Given the description of an element on the screen output the (x, y) to click on. 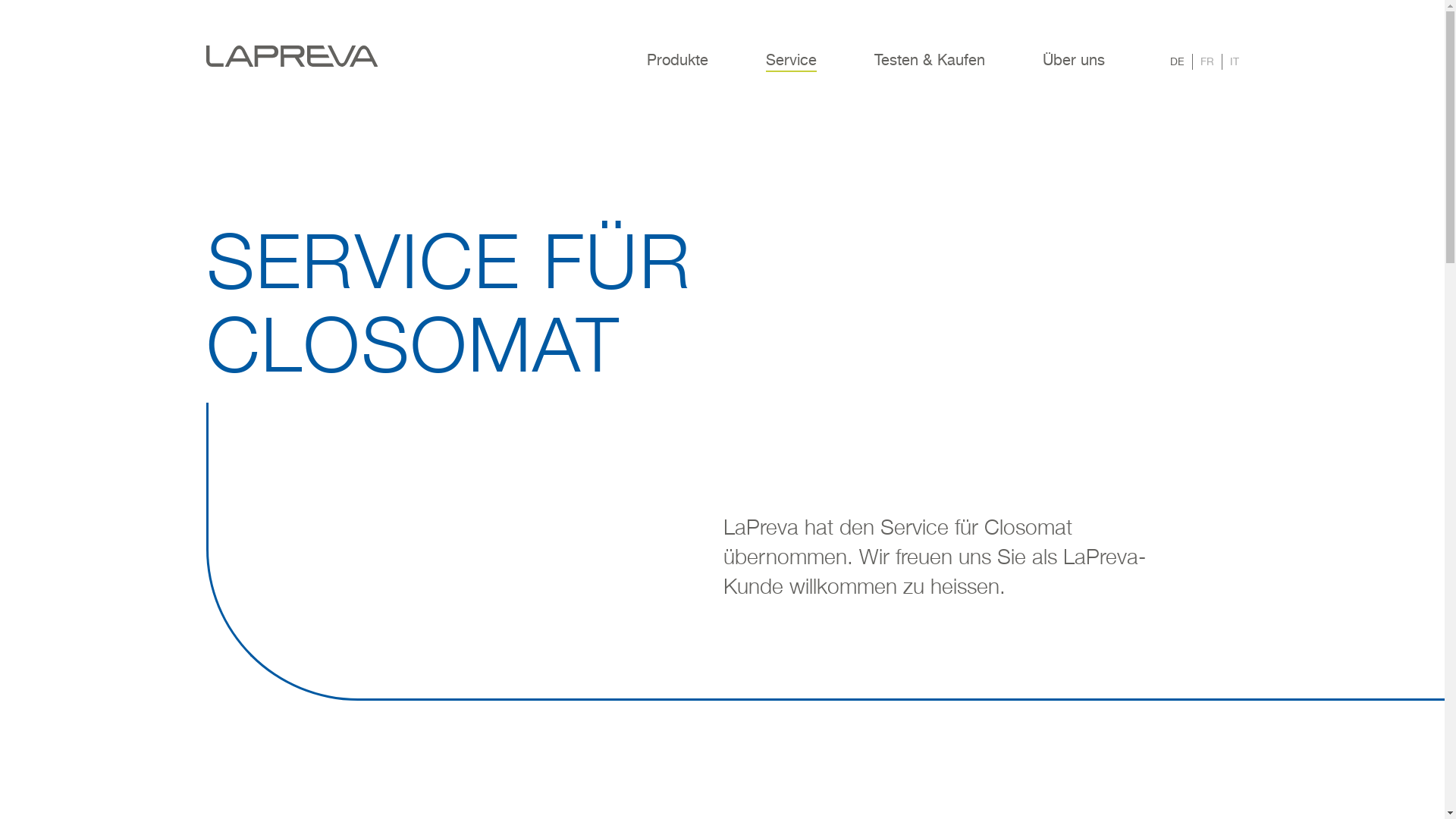
FR Element type: text (1206, 61)
DE Element type: text (1176, 61)
Service Element type: text (791, 69)
Produkte Element type: text (676, 69)
Testen & Kaufen Element type: text (928, 69)
IT Element type: text (1234, 61)
